Given the description of an element on the screen output the (x, y) to click on. 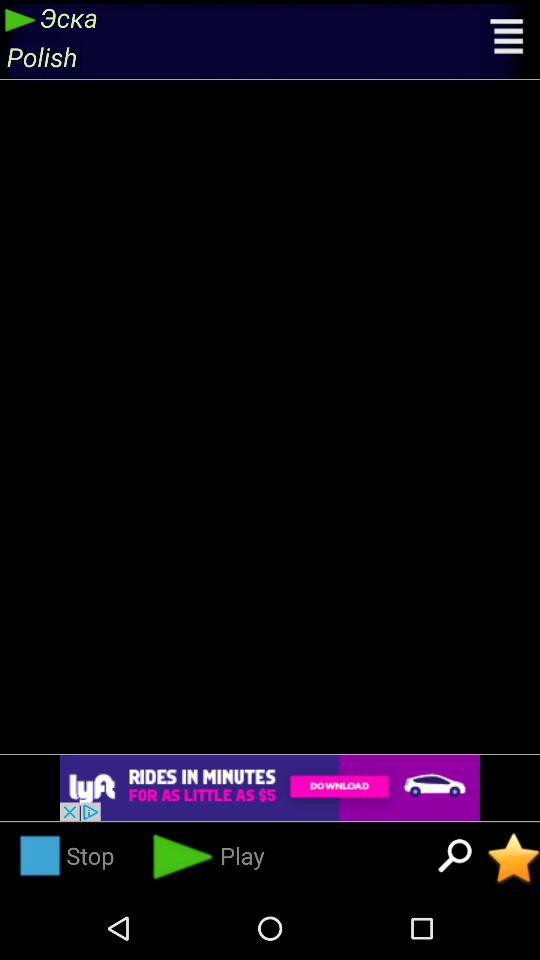
open menu (508, 39)
